Given the description of an element on the screen output the (x, y) to click on. 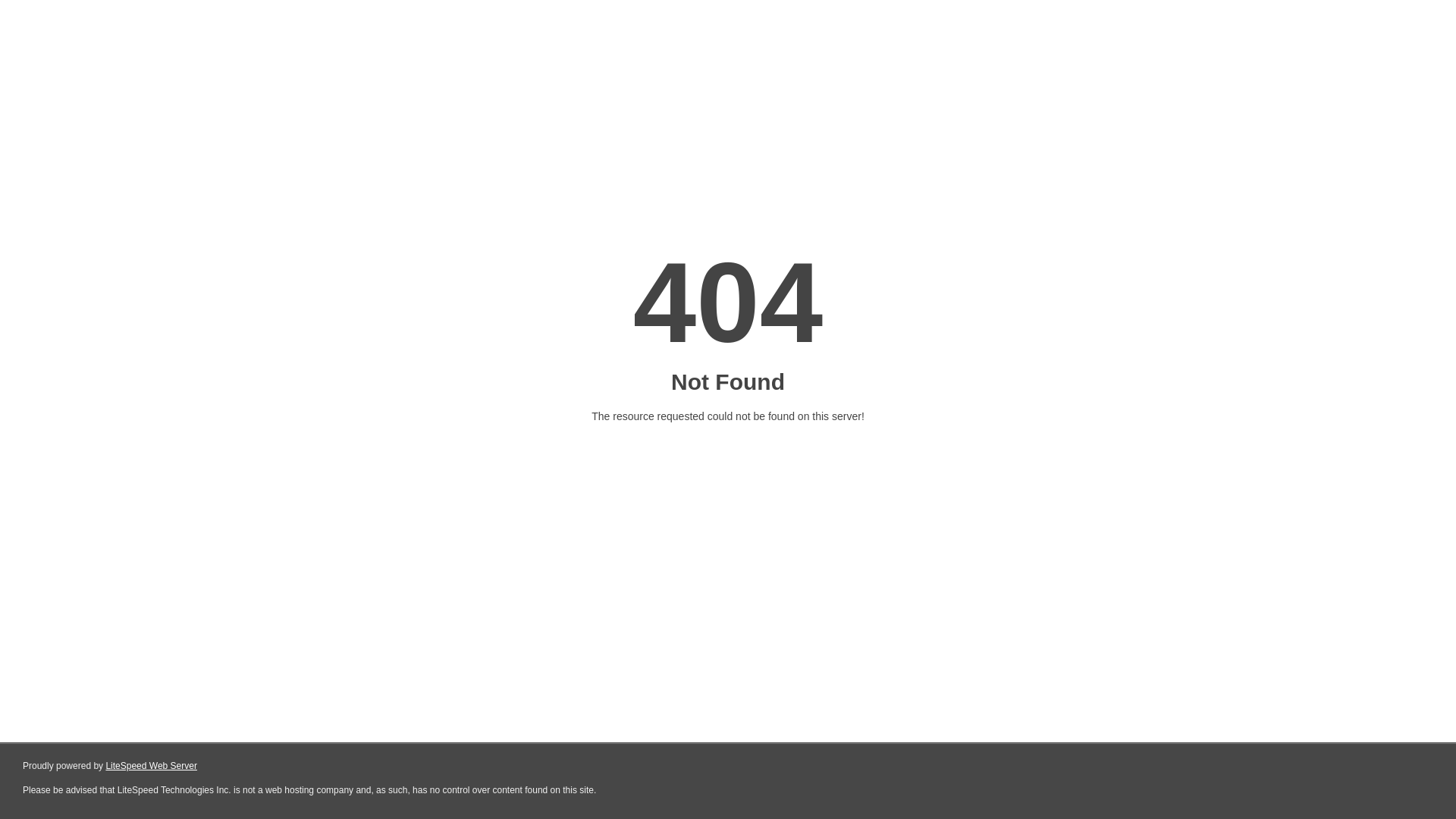
LiteSpeed Web Server Element type: text (151, 765)
